Given the description of an element on the screen output the (x, y) to click on. 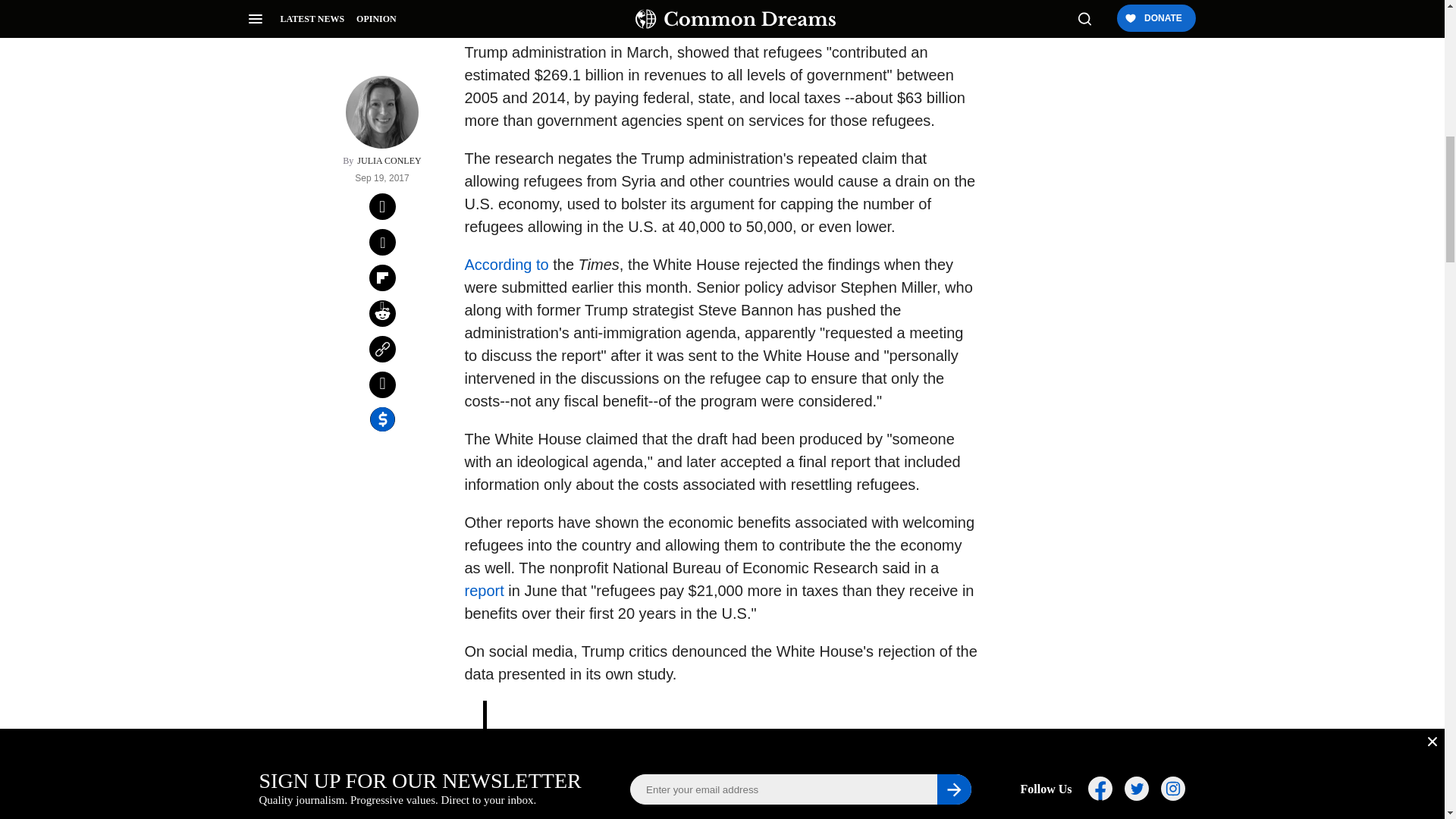
Copy this link to clipboard (382, 147)
Donate Button (1051, 207)
